Given the description of an element on the screen output the (x, y) to click on. 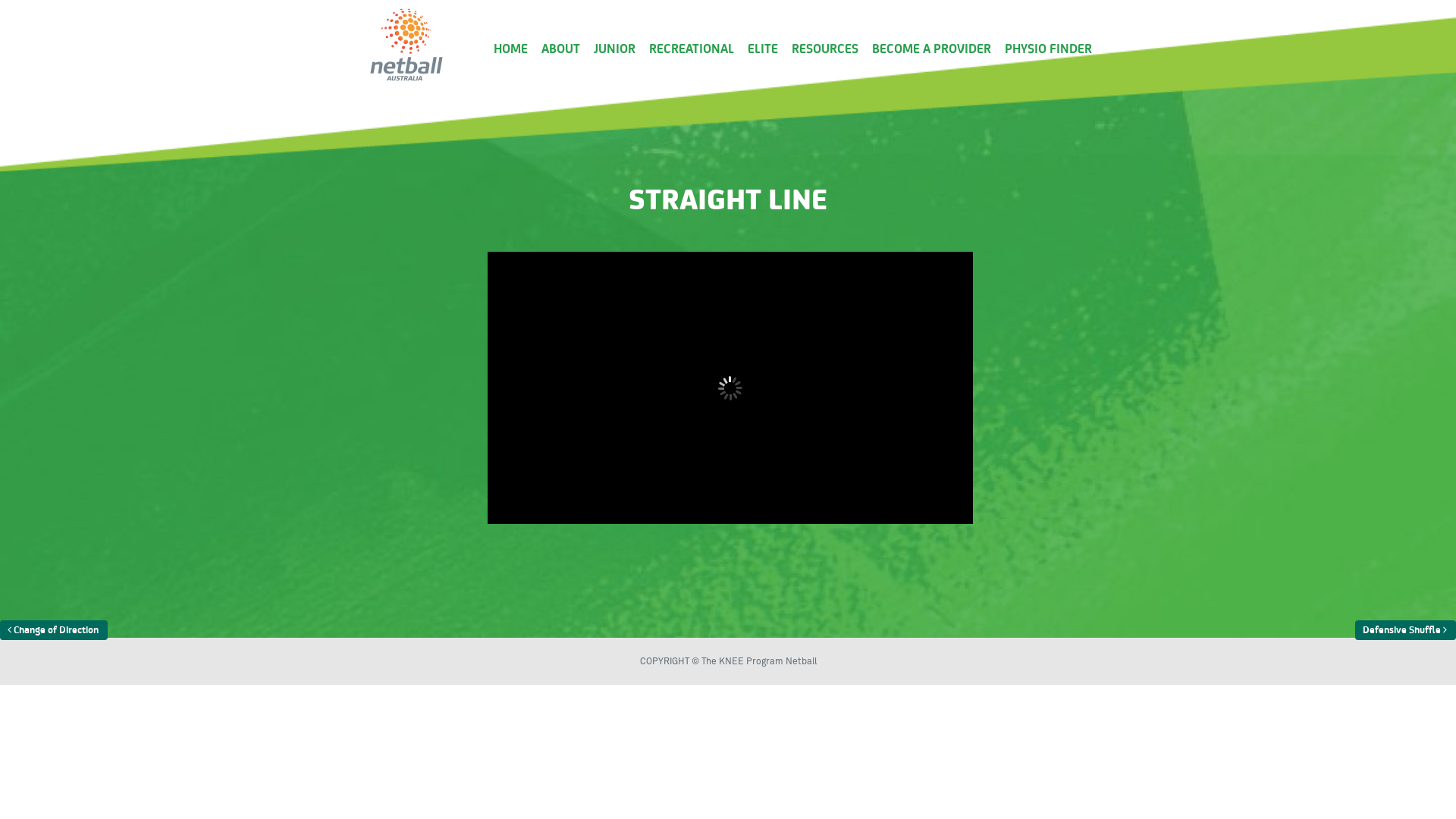
HOME Element type: text (503, 48)
Just another WordPress site Element type: hover (406, 79)
RECREATIONAL Element type: text (684, 48)
ABOUT Element type: text (553, 48)
Change of Direction Element type: text (53, 630)
JUNIOR Element type: text (607, 48)
BECOME A PROVIDER Element type: text (924, 48)
ELITE Element type: text (756, 48)
PHYSIO FINDER Element type: text (1041, 48)
RESOURCES Element type: text (818, 48)
